Given the description of an element on the screen output the (x, y) to click on. 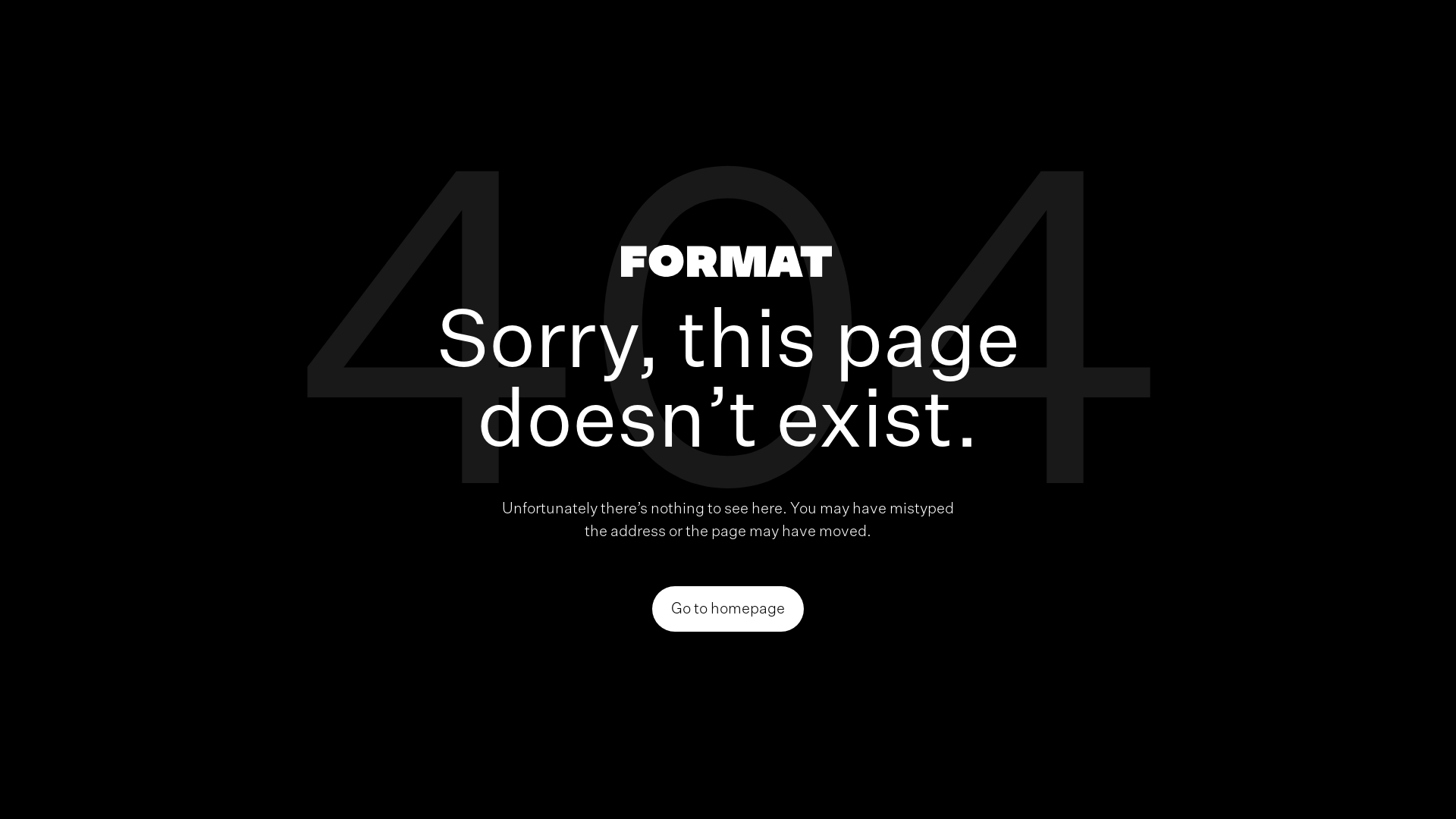
Go to homepage Element type: text (727, 608)
